Given the description of an element on the screen output the (x, y) to click on. 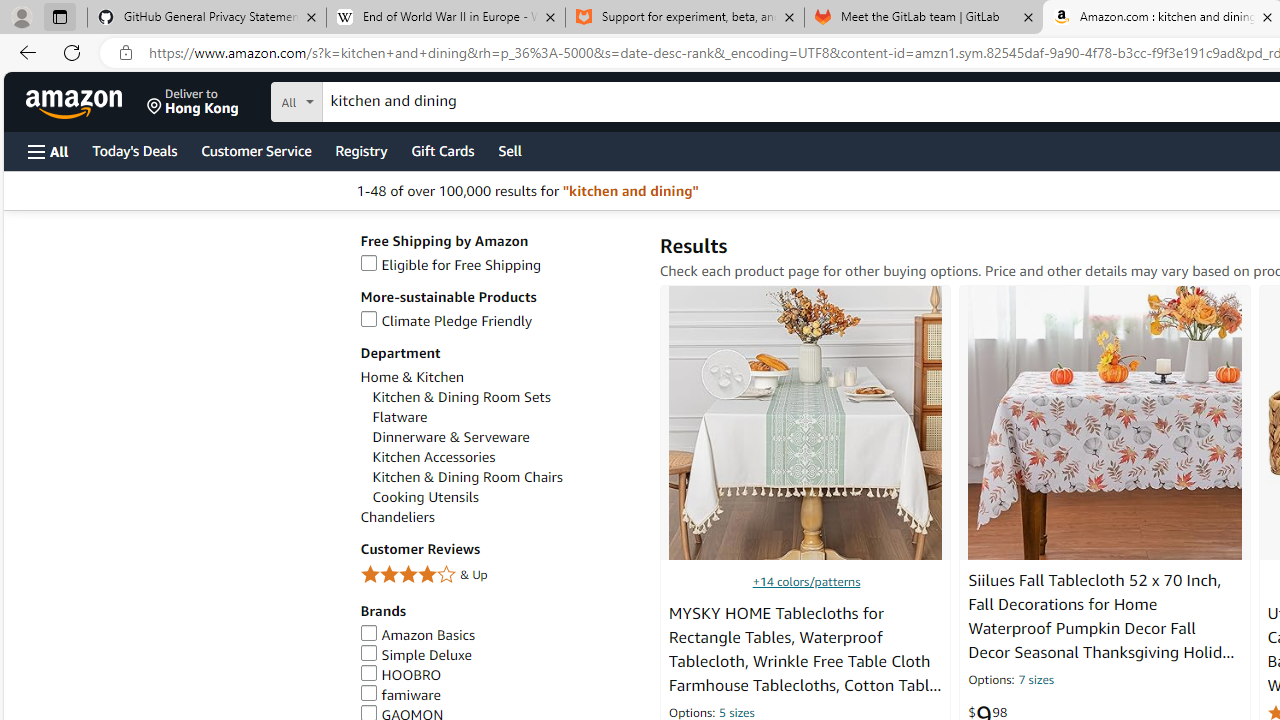
Kitchen Accessories (506, 457)
Eligible for Free Shipping (499, 265)
7 sizes (1035, 681)
Chandeliers (499, 517)
Flatware (399, 417)
Climate Pledge Friendly (499, 321)
+14 colors/patterns (806, 580)
Amazon Basics (417, 634)
Kitchen & Dining Room Chairs (467, 477)
